Given the description of an element on the screen output the (x, y) to click on. 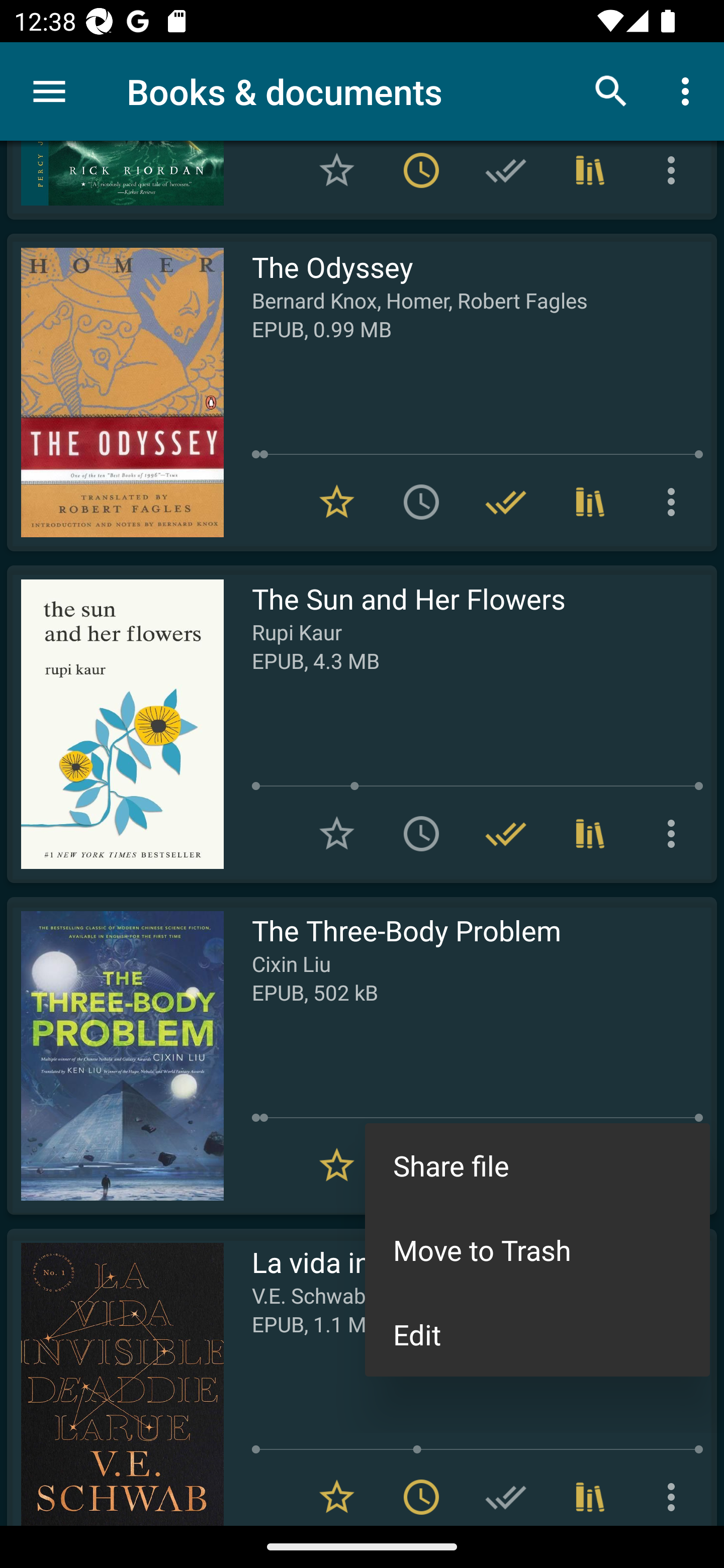
Share file (537, 1164)
Move to Trash (537, 1249)
Edit (537, 1334)
